Given the description of an element on the screen output the (x, y) to click on. 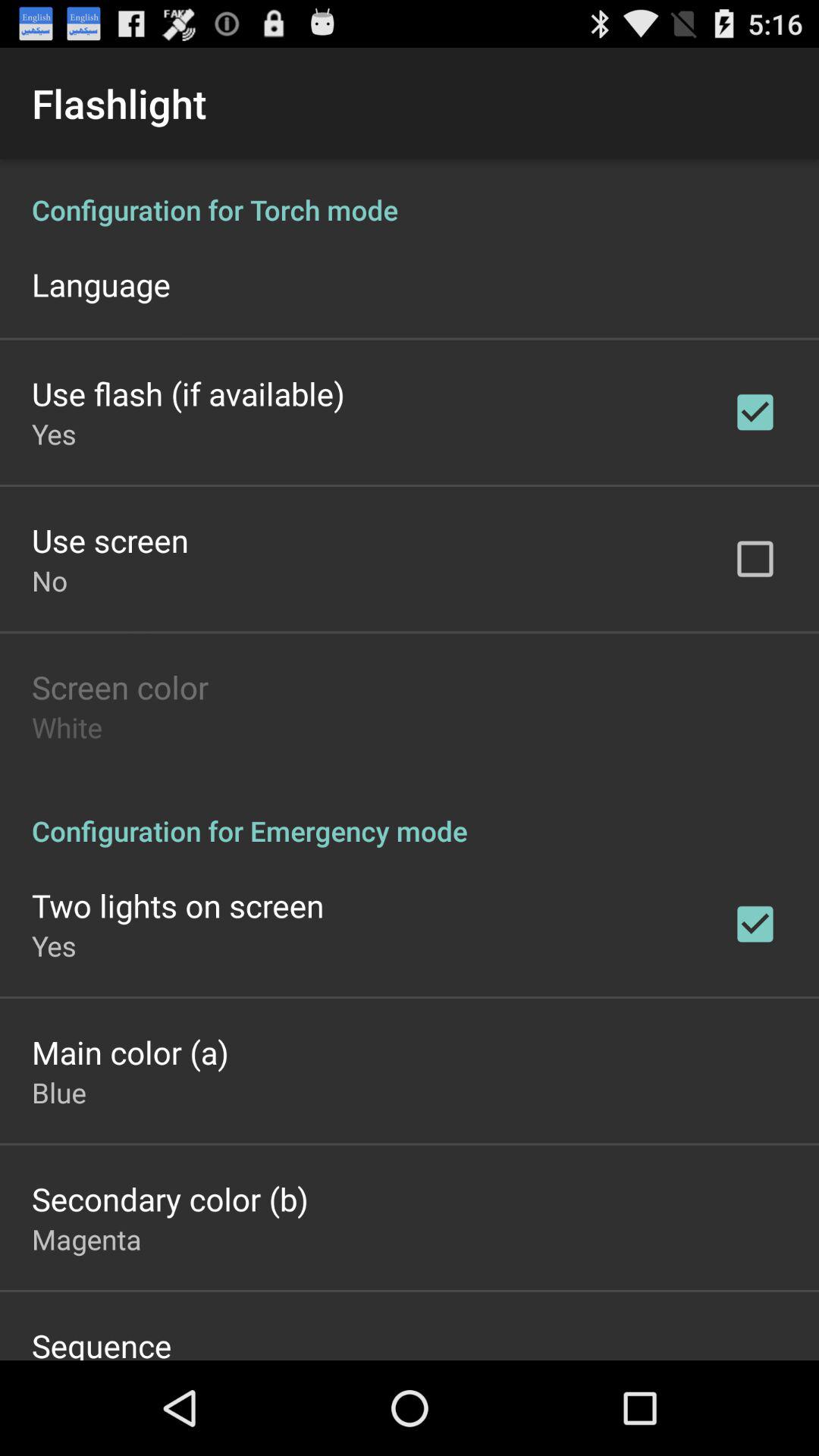
launch the main color (a) app (129, 1051)
